Given the description of an element on the screen output the (x, y) to click on. 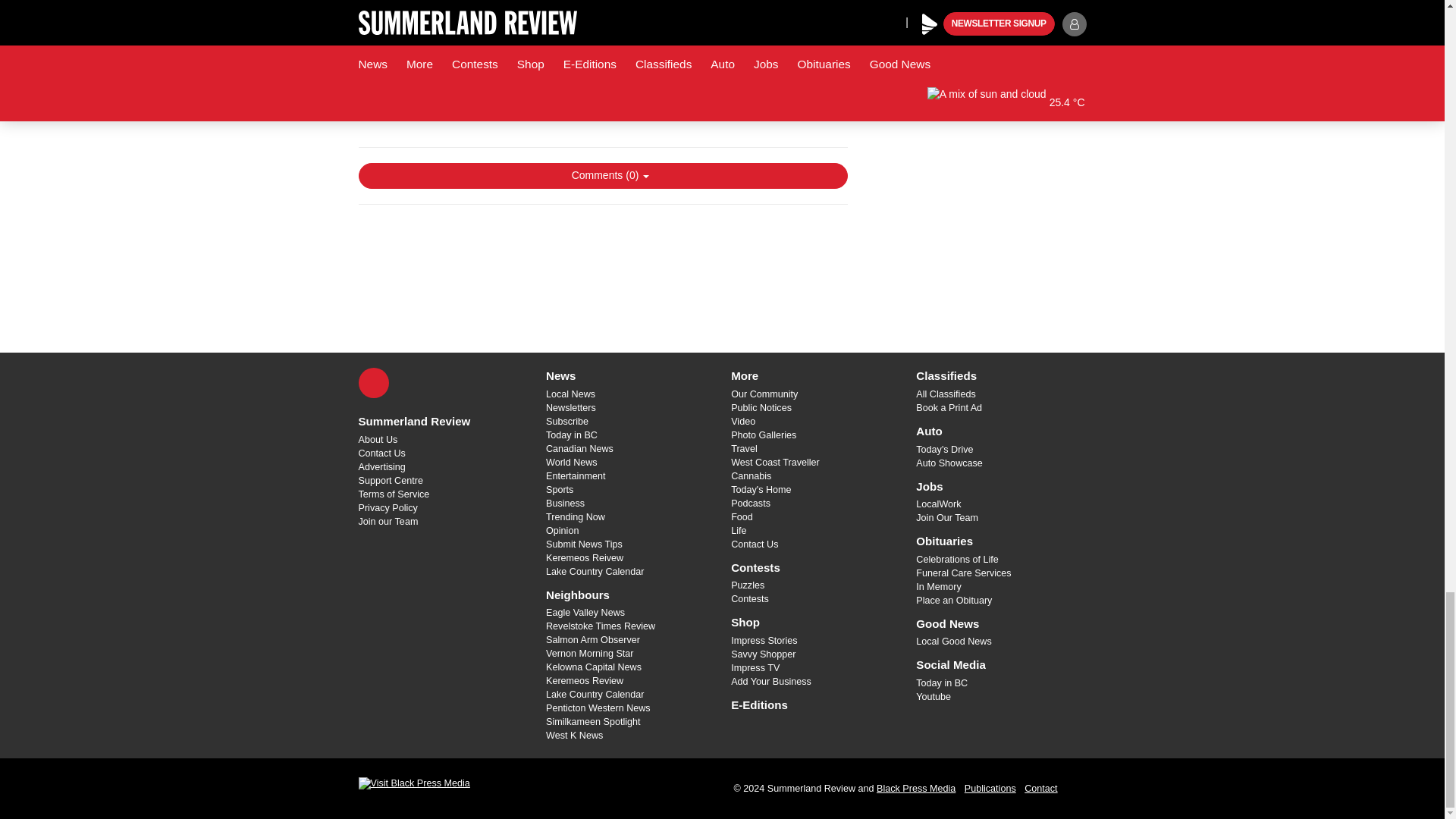
X (373, 382)
Show Comments (602, 175)
